Given the description of an element on the screen output the (x, y) to click on. 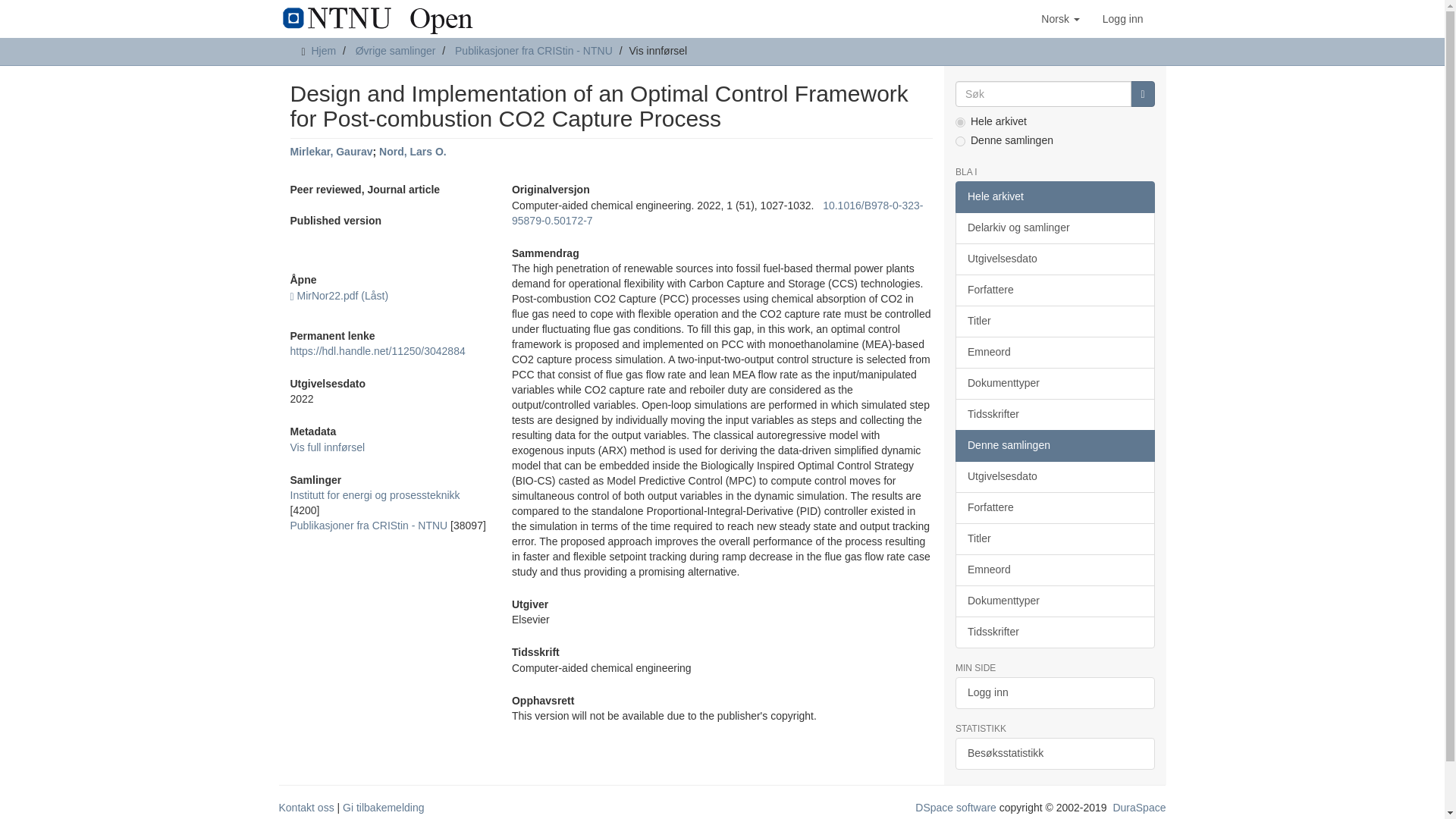
Forfattere (1054, 290)
Titler (1054, 321)
Mirlekar, Gaurav (330, 151)
Institutt for energi og prosessteknikk (374, 494)
Logg inn (1122, 18)
Hele arkivet (1054, 196)
Hjem (323, 50)
Publikasjoner fra CRIStin - NTNU (533, 50)
Publikasjoner fra CRIStin - NTNU (367, 525)
Delarkiv og samlinger (1054, 228)
Nord, Lars O. (412, 151)
Norsk  (1059, 18)
Utgivelsesdato (1054, 259)
